Given the description of an element on the screen output the (x, y) to click on. 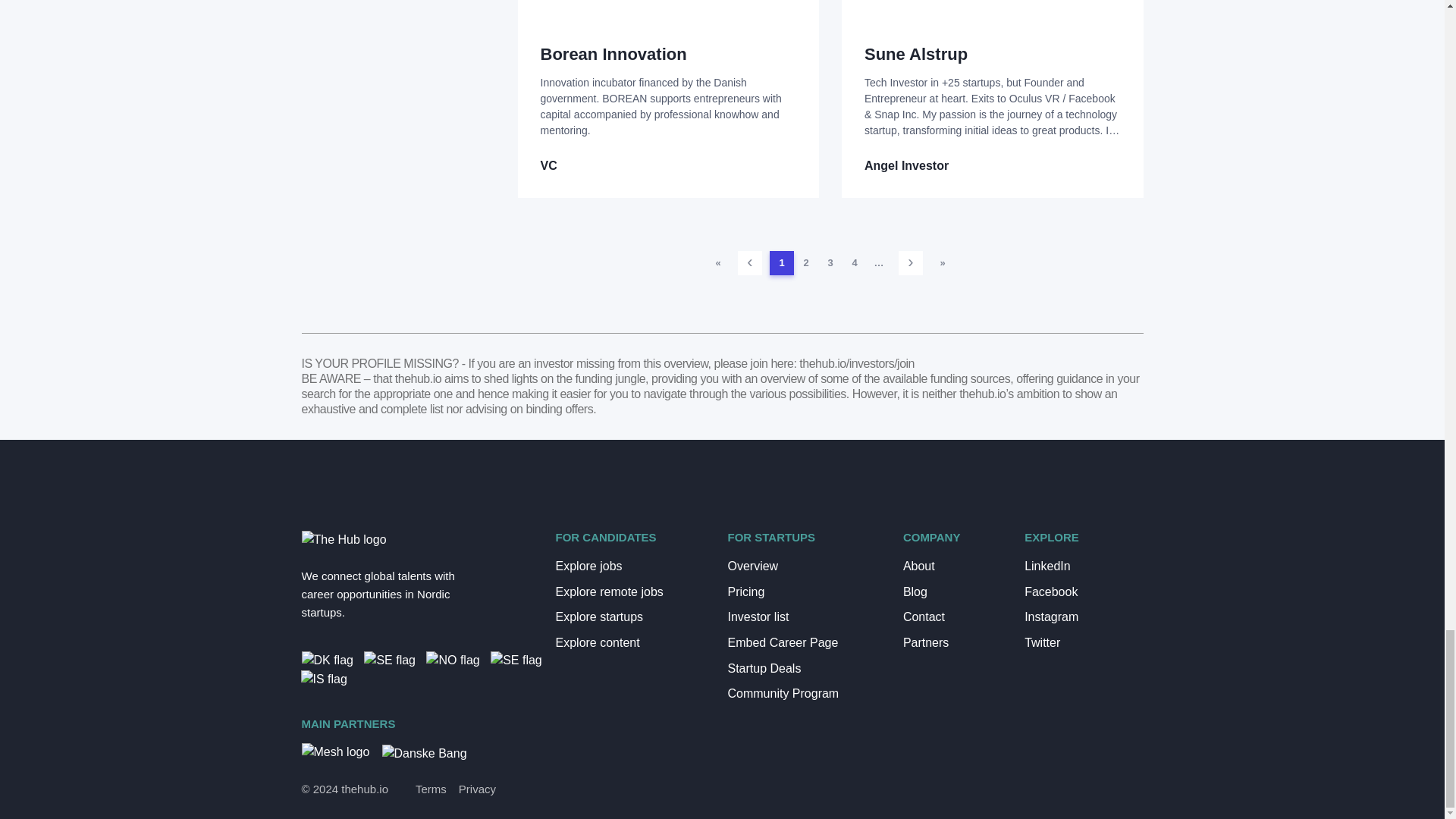
4 (854, 262)
1 (781, 262)
2 (805, 262)
3 (830, 262)
